Given the description of an element on the screen output the (x, y) to click on. 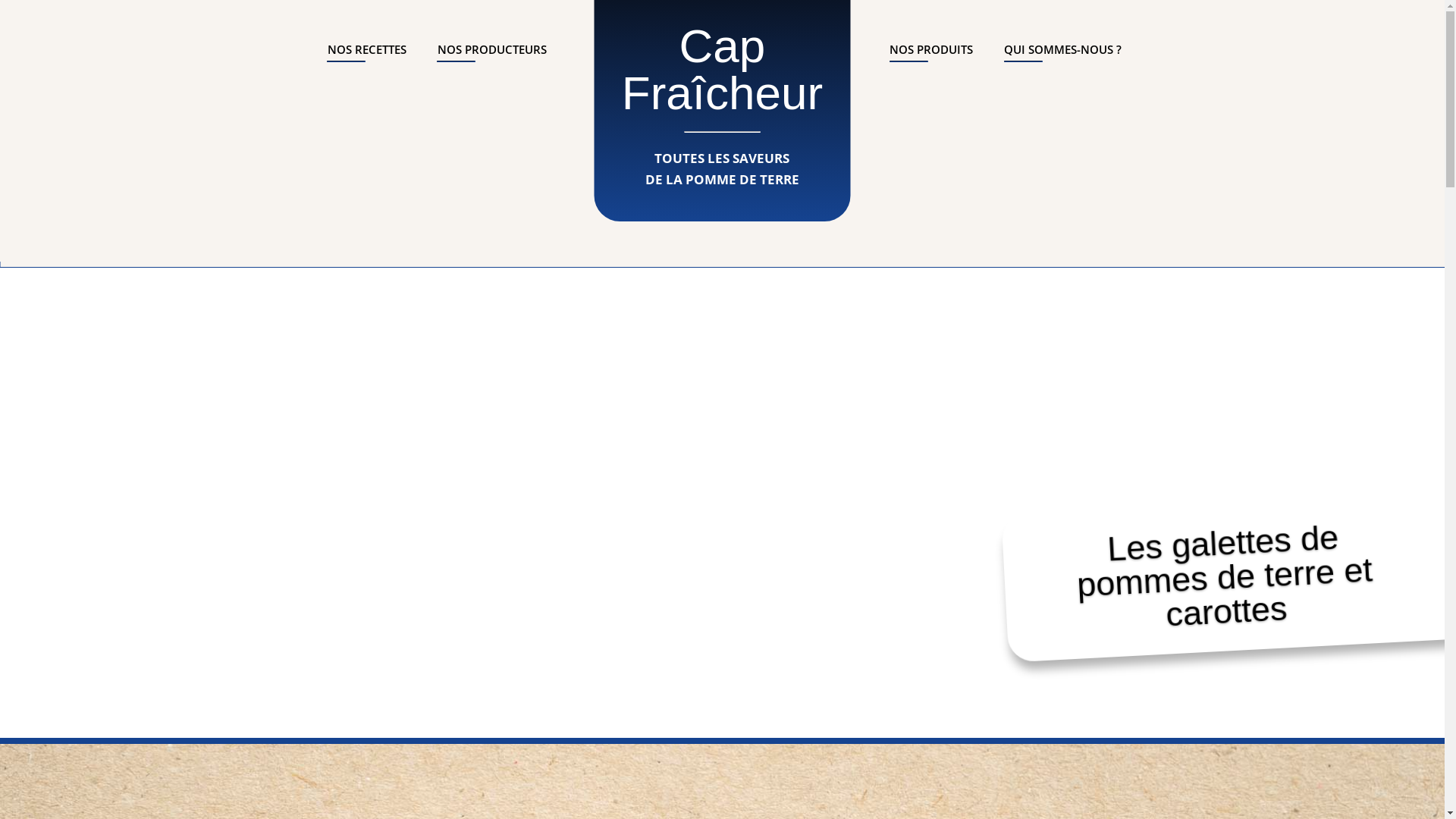
NOS PRODUCTEURS Element type: text (491, 58)
NOS RECETTES Element type: text (366, 58)
QUI SOMMES-NOUS ? Element type: text (1062, 58)
NOS PRODUITS Element type: text (930, 58)
